Given the description of an element on the screen output the (x, y) to click on. 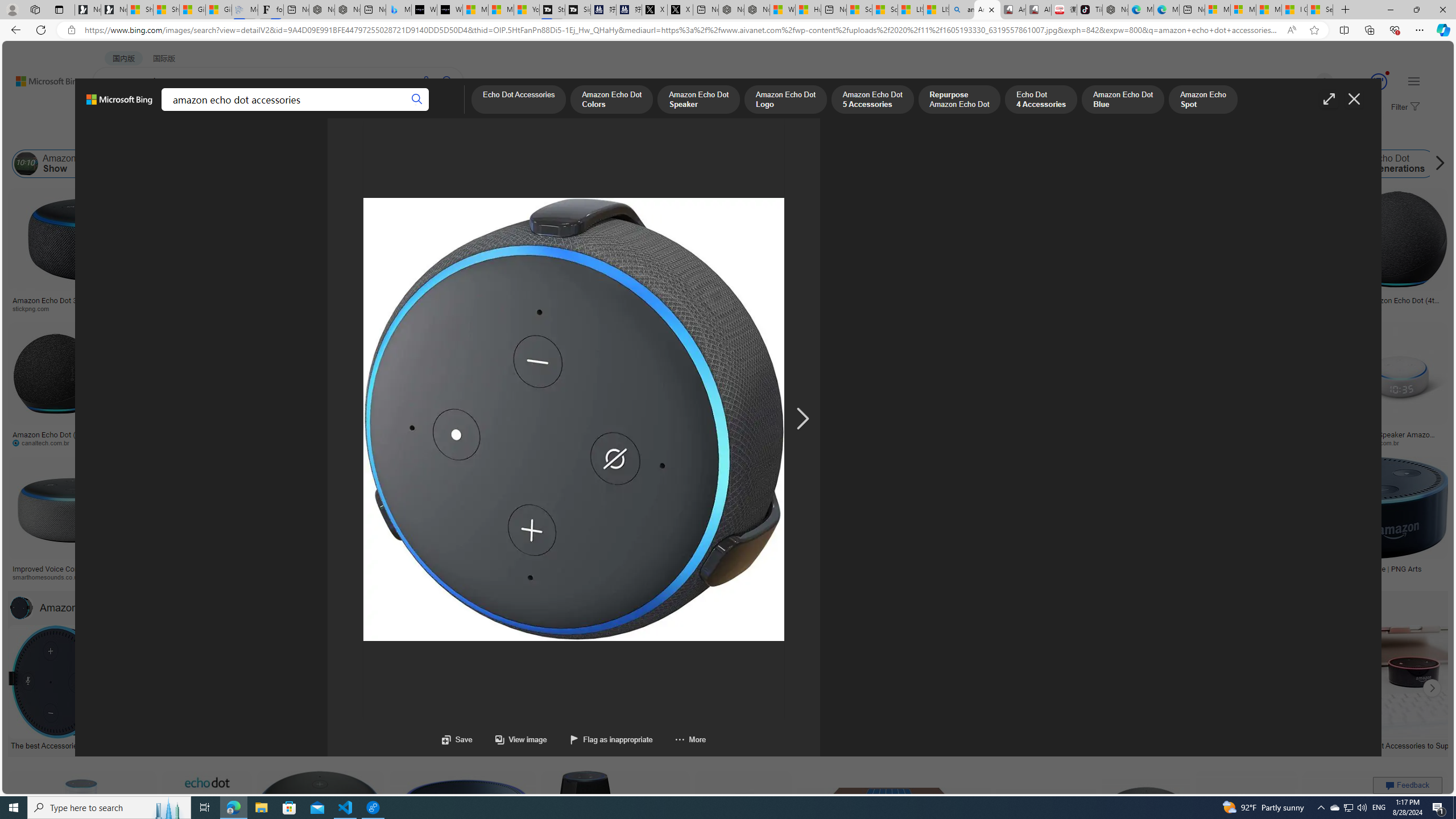
mediamarkt.es (638, 576)
Amazon Echo Dot Accessories (95, 607)
WEB (114, 111)
FrAndroid (431, 308)
Dropdown Menu (443, 111)
Microsoft account | Privacy (1242, 9)
Android Central (396, 576)
